Given the description of an element on the screen output the (x, y) to click on. 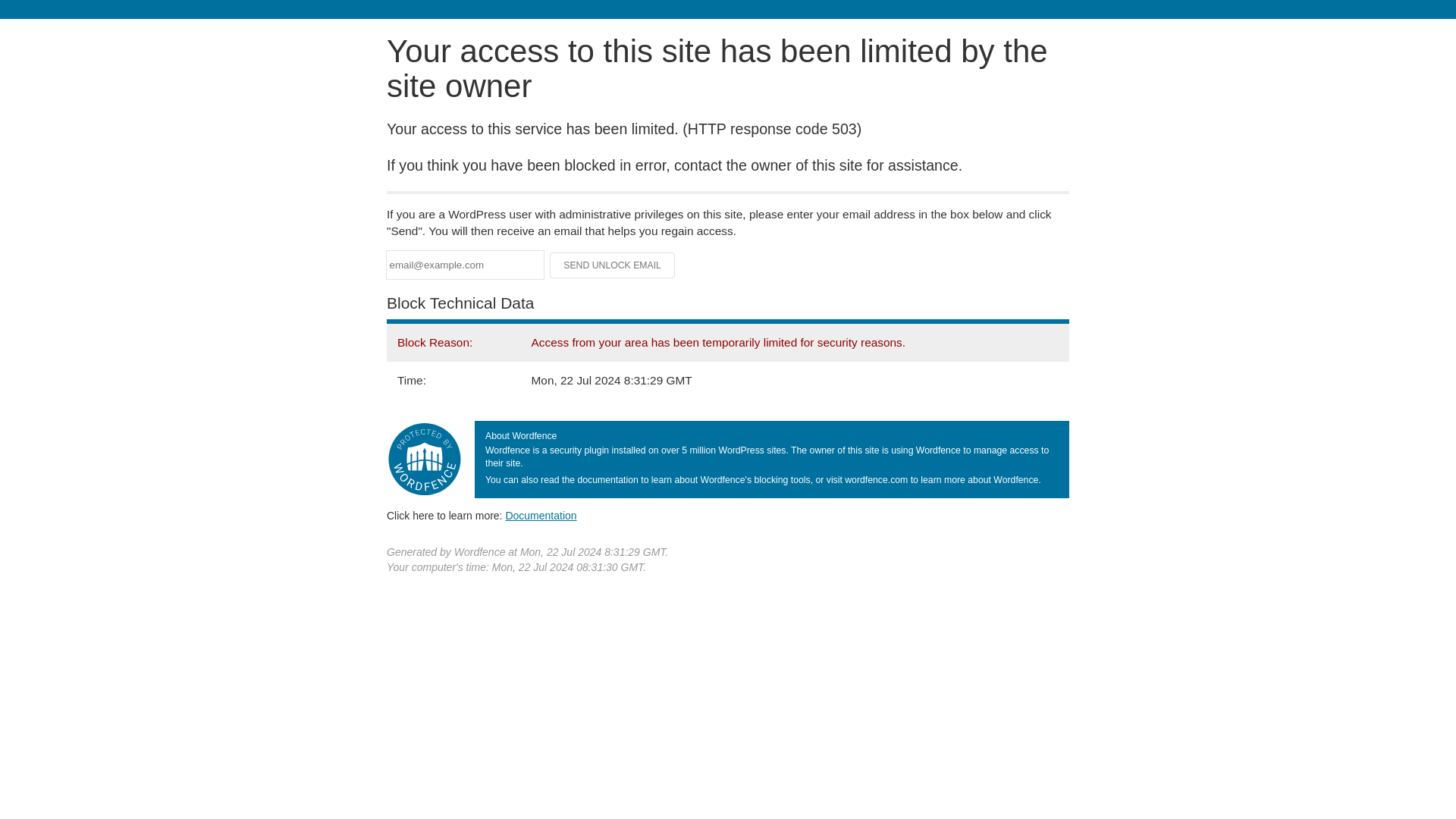
Send Unlock Email (612, 265)
Send Unlock Email (612, 265)
Documentation (540, 515)
